Given the description of an element on the screen output the (x, y) to click on. 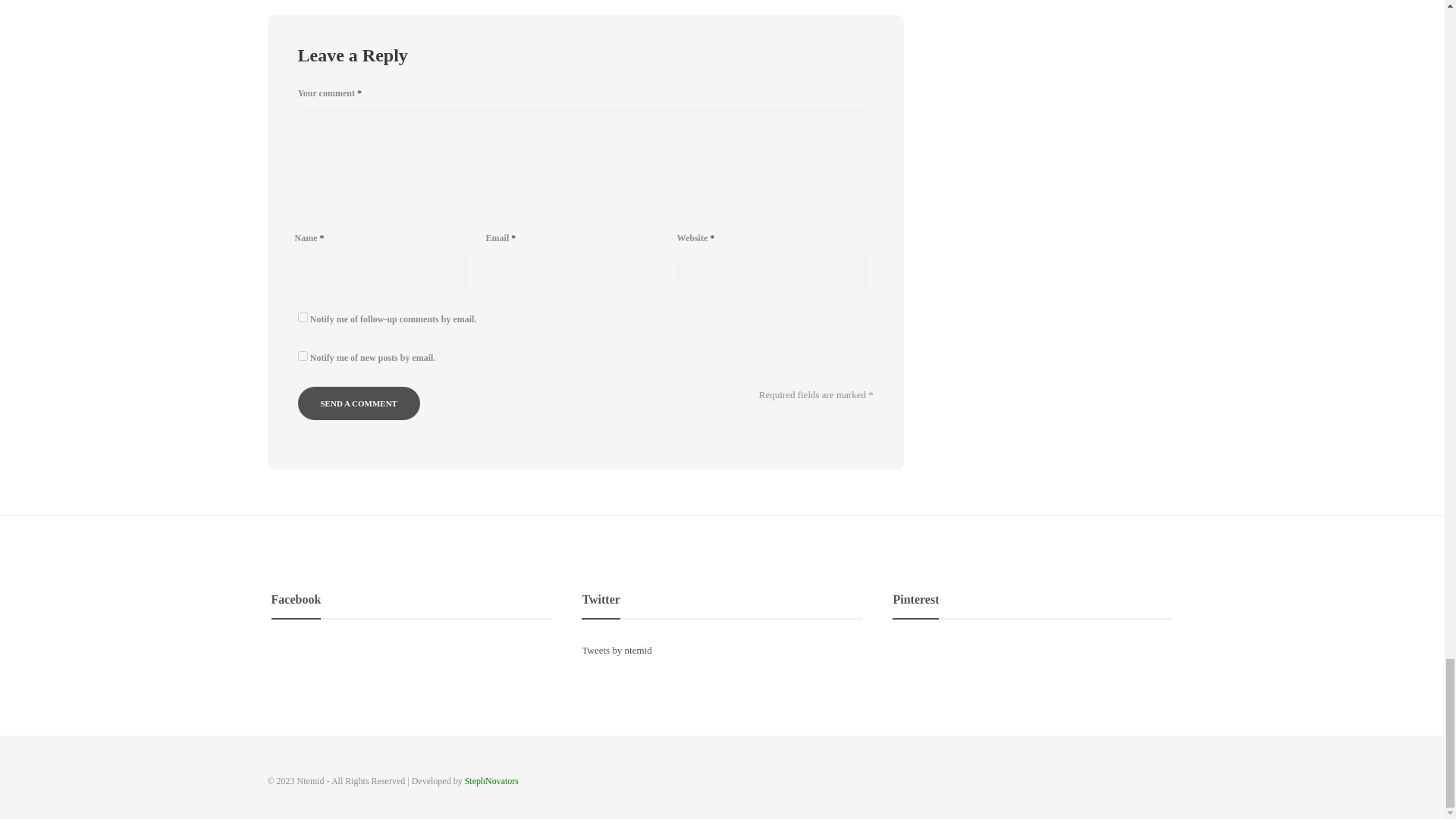
Send a comment (358, 403)
subscribe (302, 317)
subscribe (302, 356)
